Given the description of an element on the screen output the (x, y) to click on. 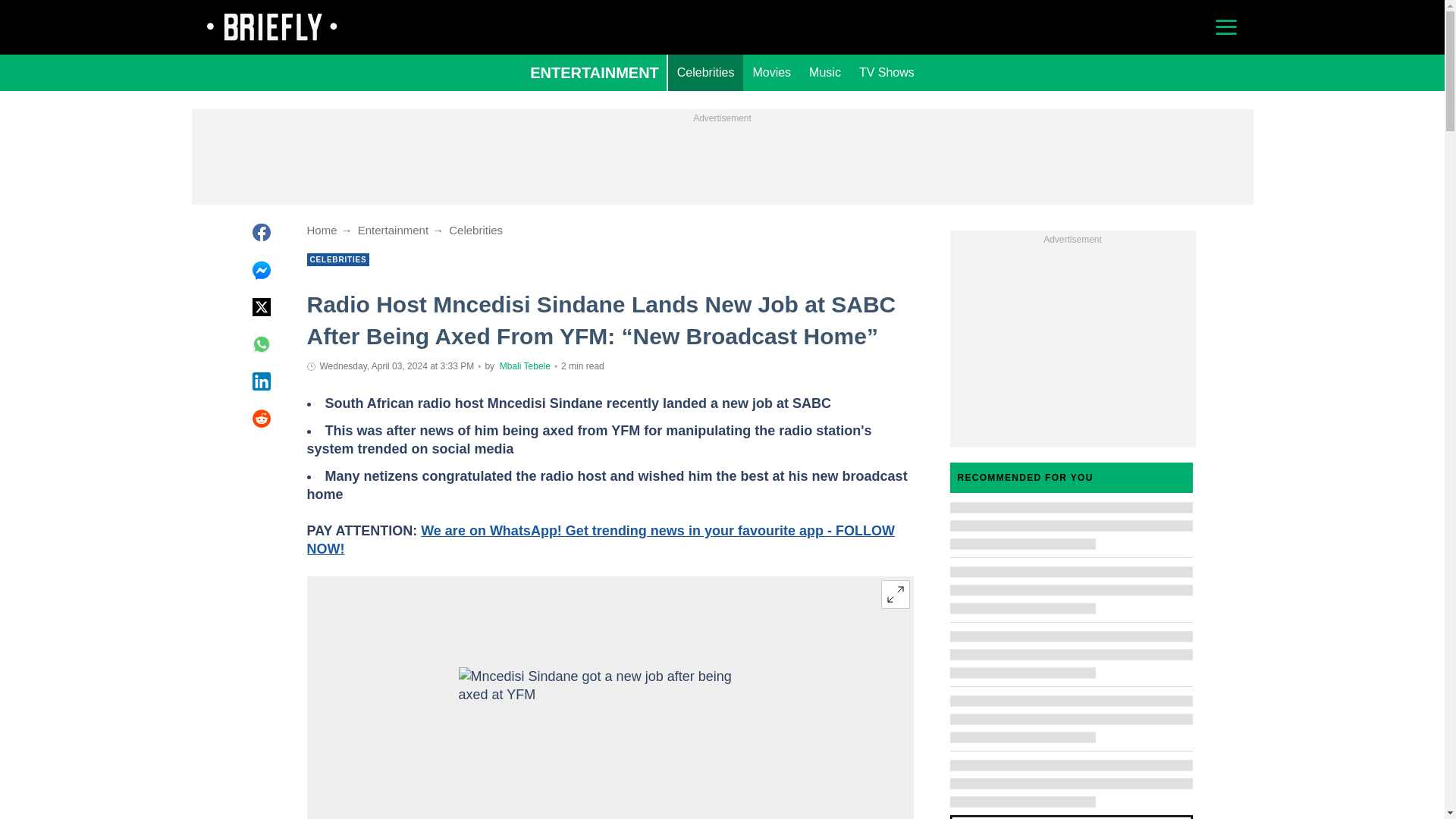
Movies (770, 72)
TV Shows (886, 72)
Briefly News WhatsApp (599, 539)
Author page (524, 366)
Mncedisi Sindane got a new job after being axed at YFM (609, 743)
ENTERTAINMENT (594, 72)
Celebrities (706, 72)
Expand image (895, 594)
Music (824, 72)
